Given the description of an element on the screen output the (x, y) to click on. 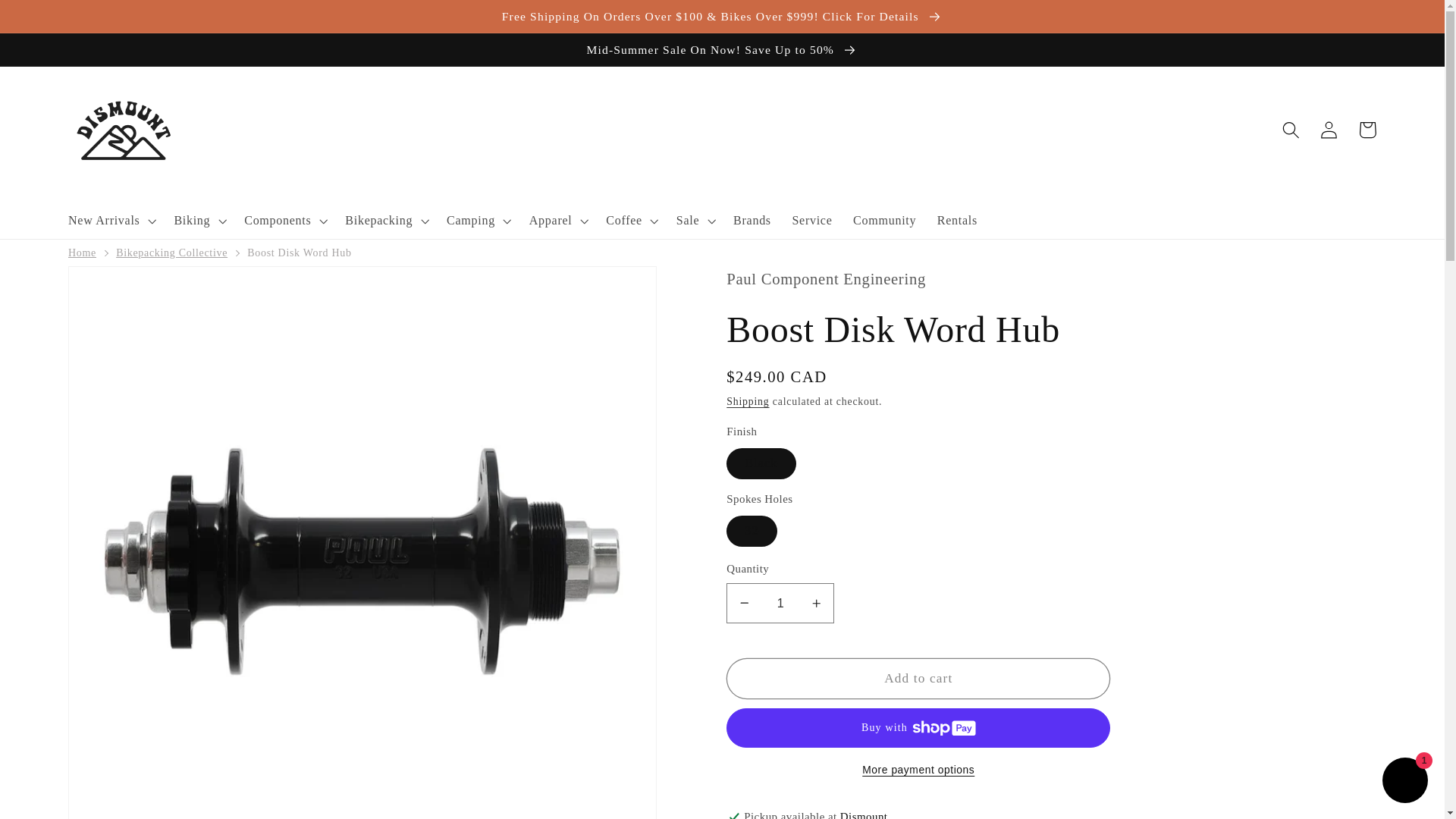
1 (780, 603)
Shopify online store chat (1404, 781)
Skip to content (52, 20)
